Given the description of an element on the screen output the (x, y) to click on. 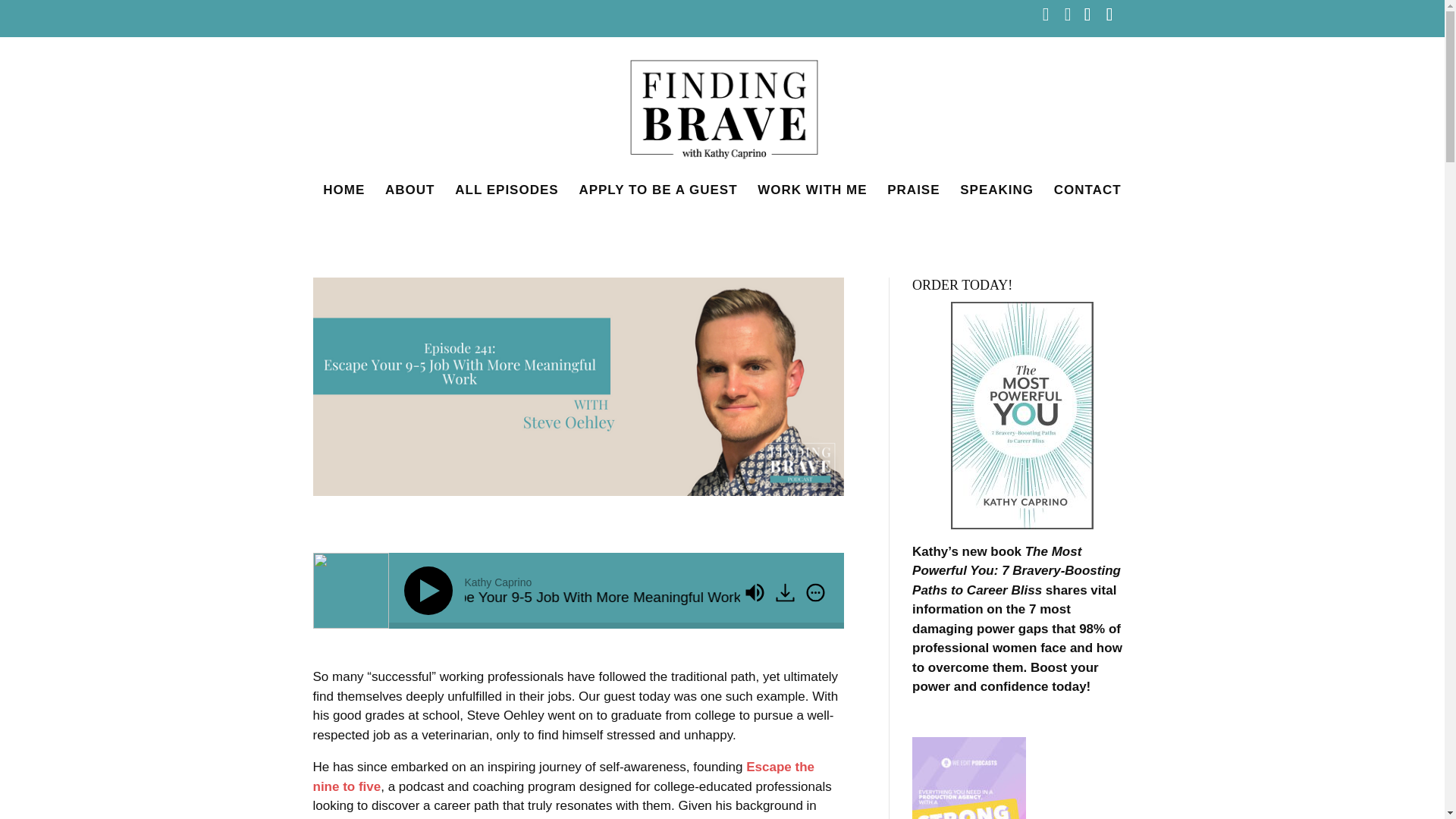
SPEAKING (996, 200)
PRAISE (912, 200)
Download (784, 592)
APPLY TO BE A GUEST (657, 200)
CONTACT (1087, 200)
More (815, 592)
HOME (344, 200)
ABOUT (409, 200)
ALL EPISODES (505, 200)
Download (786, 594)
